Given the description of an element on the screen output the (x, y) to click on. 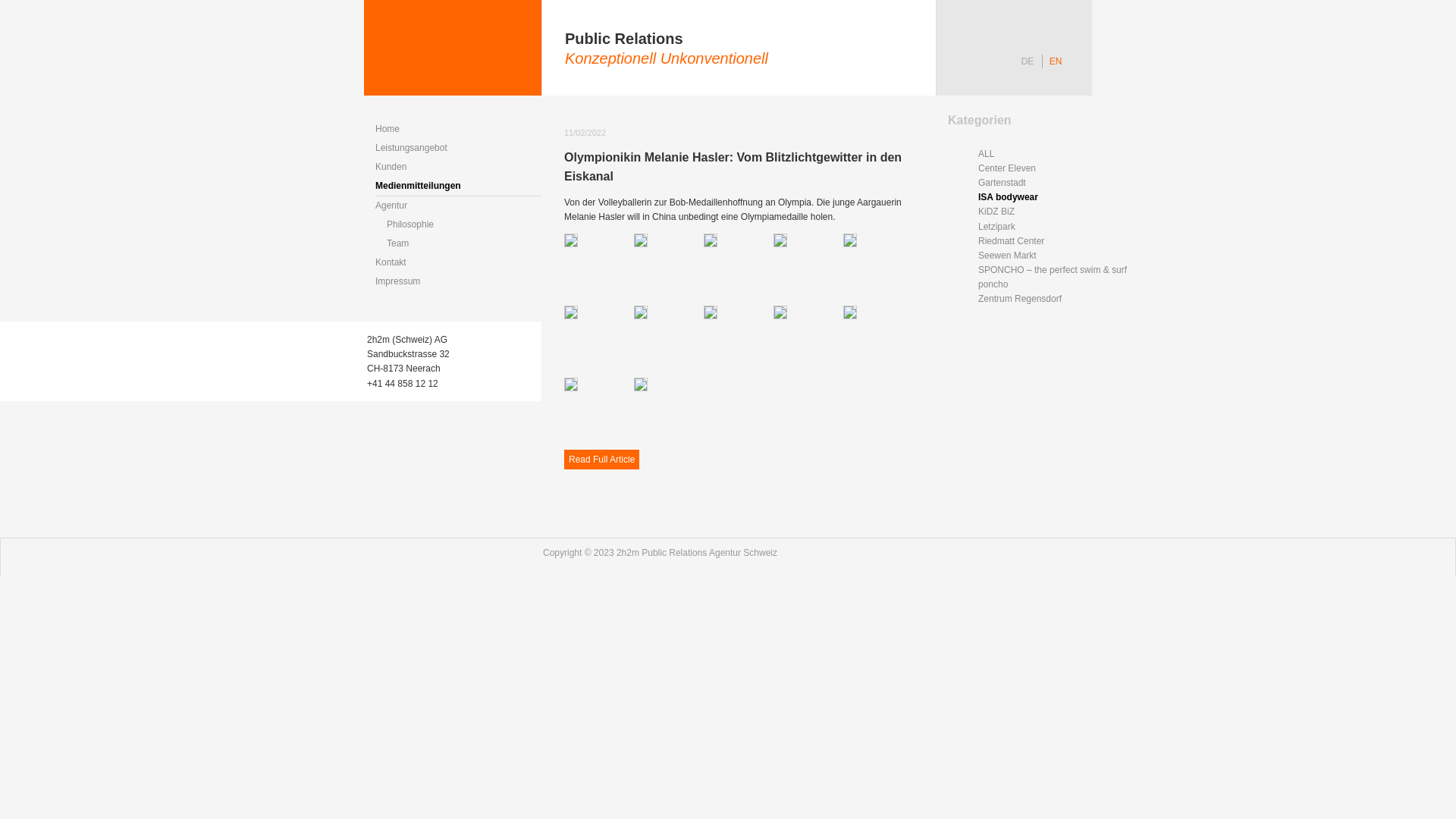
Leistungsangebot Element type: text (458, 147)
EN Element type: text (1055, 61)
Zentrum Regensdorf Element type: text (1055, 298)
ISA bodywear Element type: text (1055, 197)
Home Element type: text (458, 128)
ALL Element type: text (1055, 154)
Read Full Article Element type: text (601, 459)
Kunden Element type: text (458, 166)
Medienmitteilungen Element type: text (458, 186)
Agentur Element type: text (458, 205)
Kontakt Element type: text (458, 262)
DE Element type: text (1027, 61)
Impressum Element type: text (458, 281)
Gartenstadt Element type: text (1055, 182)
Philosophie Element type: text (463, 224)
Letzipark Element type: text (1055, 226)
Riedmatt Center Element type: text (1055, 241)
Team Element type: text (463, 243)
Seewen Markt Element type: text (1055, 255)
Center Eleven Element type: text (1055, 168)
KiDZ BiZ Element type: text (1055, 211)
